Given the description of an element on the screen output the (x, y) to click on. 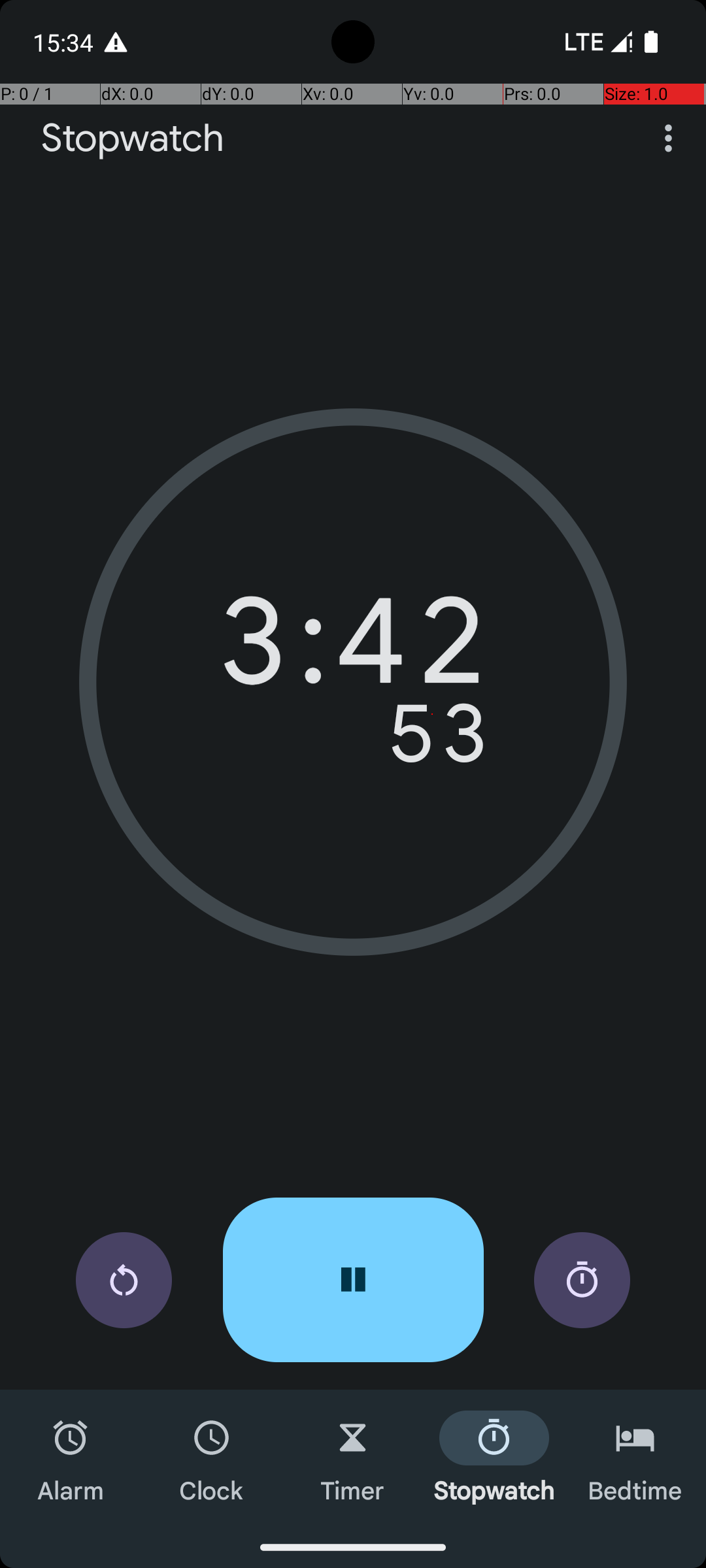
Pause Element type: android.widget.Button (352, 1279)
Lap Element type: android.widget.ImageButton (582, 1280)
3:38 Element type: android.widget.TextView (352, 650)
